Given the description of an element on the screen output the (x, y) to click on. 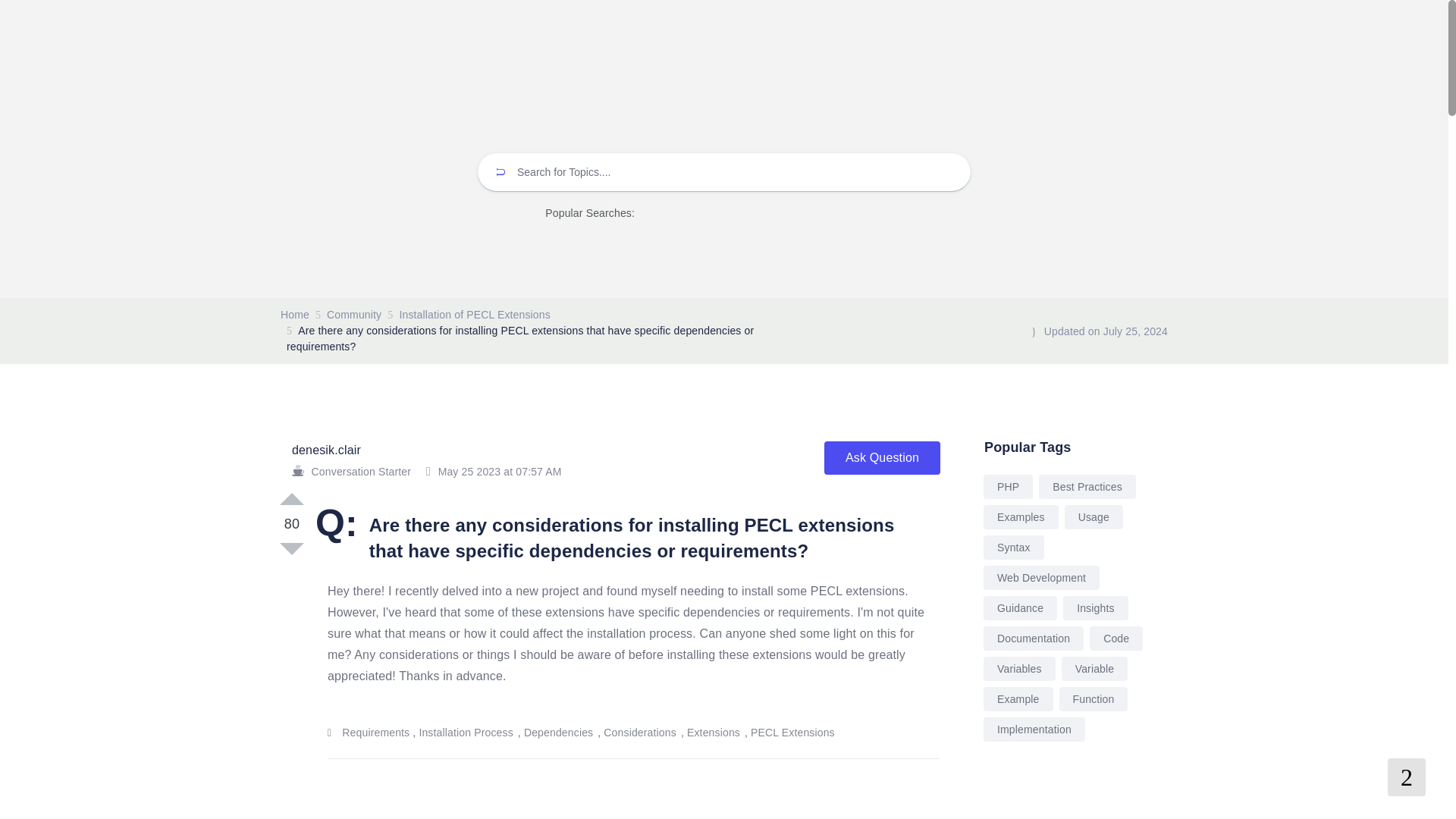
Requirements (375, 732)
Back to Top (1406, 777)
Installation Process (466, 732)
Installation of PECL Extensions (474, 314)
Advertisement (610, 807)
denesik.clair (326, 449)
Ask Question (882, 458)
PECL Extensions (793, 732)
Dependencies (559, 732)
Community (353, 314)
Home (294, 314)
Advertisement (1073, 798)
Extensions (714, 732)
Considerations (641, 732)
